Given the description of an element on the screen output the (x, y) to click on. 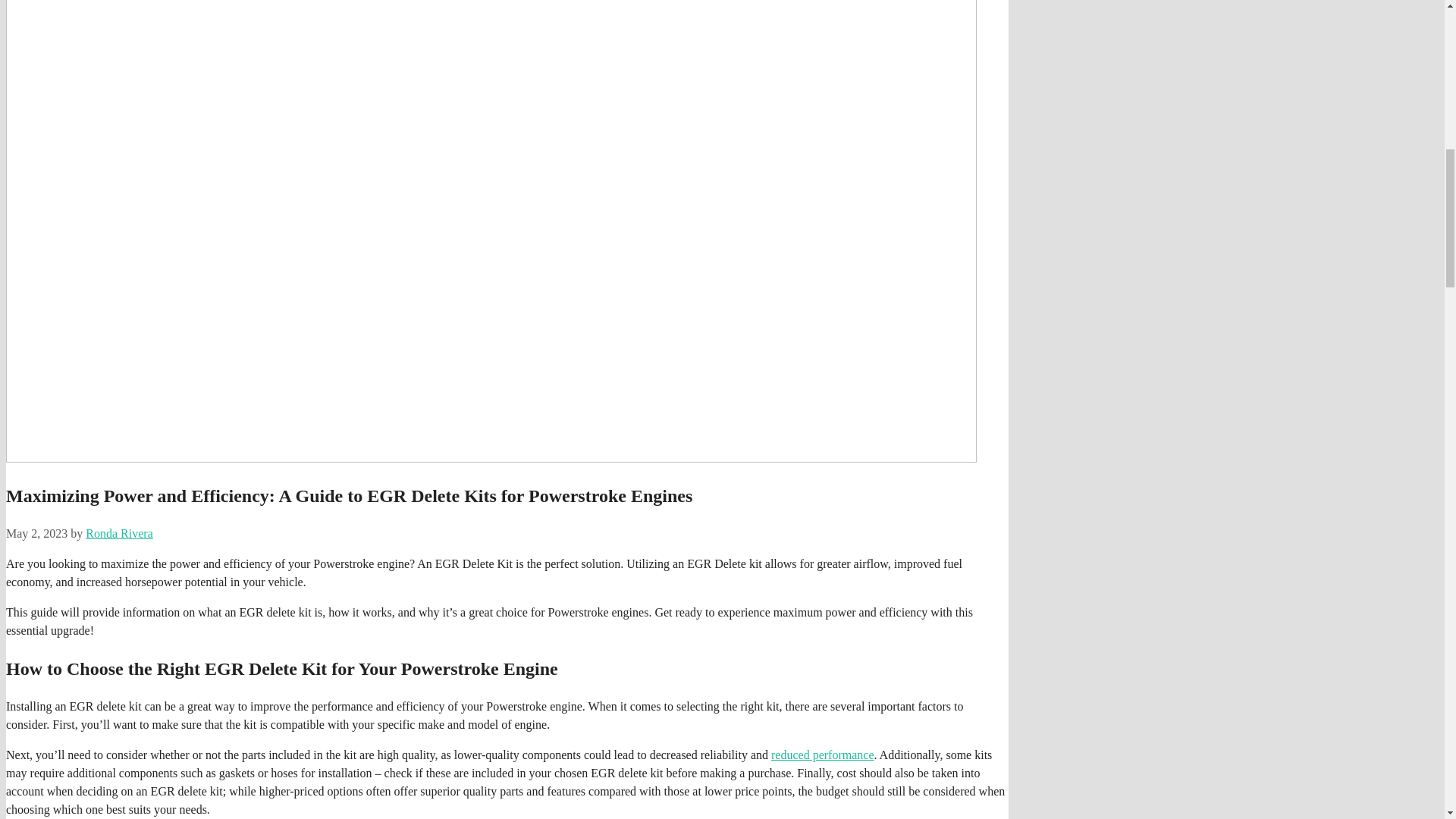
Ronda Rivera (118, 533)
Scroll back to top (1406, 720)
View all posts by Ronda Rivera (118, 533)
reduced performance (822, 754)
